Given the description of an element on the screen output the (x, y) to click on. 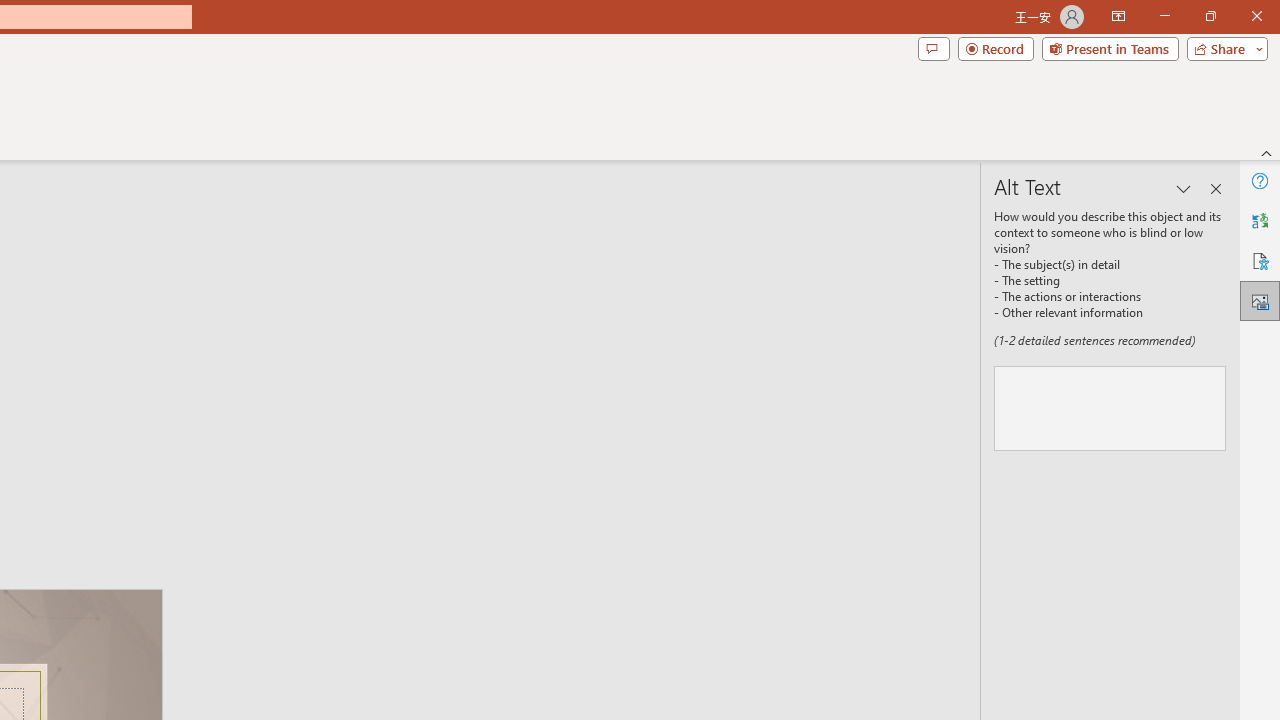
Description (1110, 408)
Alt Text (1260, 300)
